Given the description of an element on the screen output the (x, y) to click on. 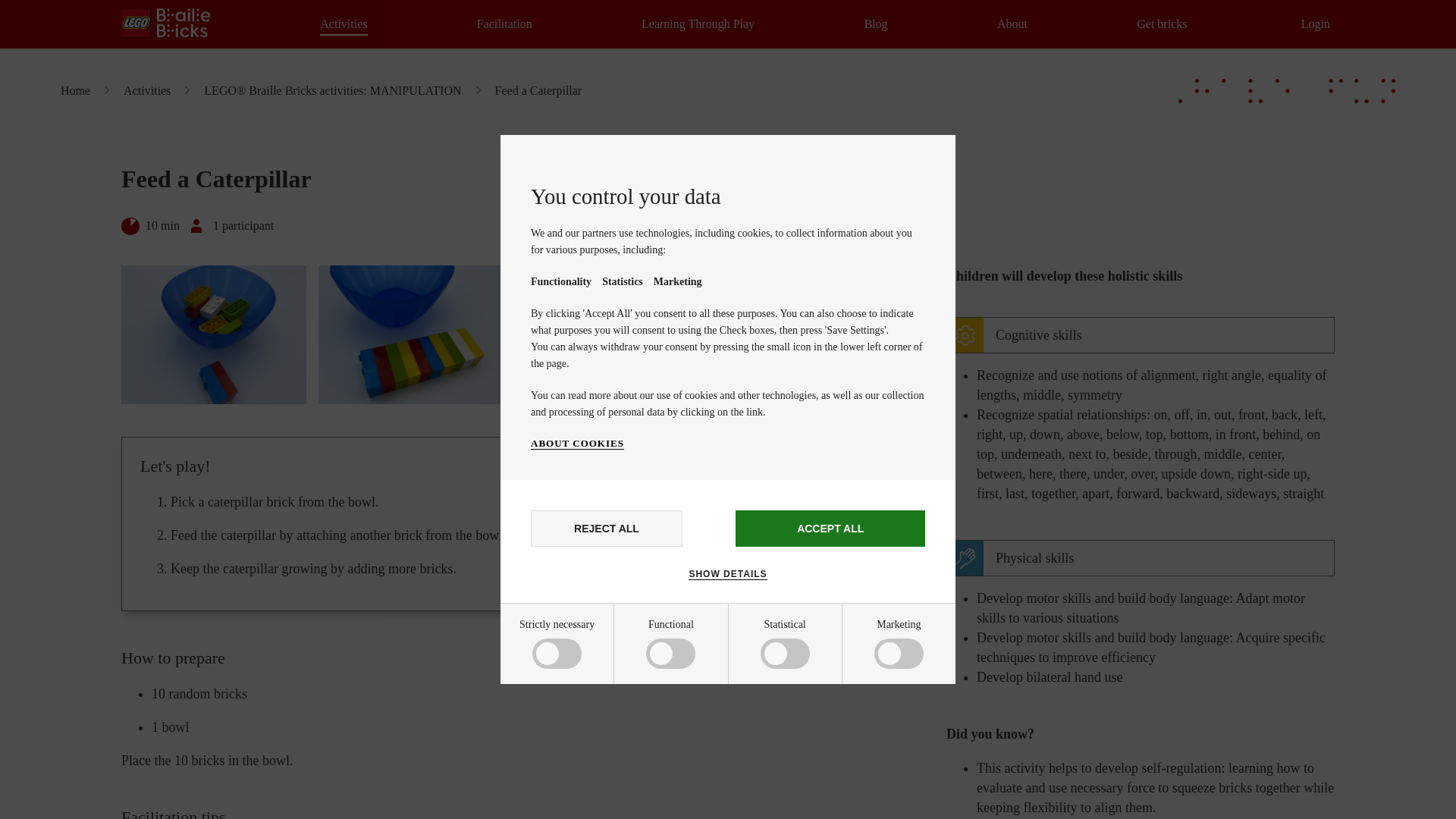
Strictly necessary (585, 657)
About (1012, 24)
Facilitation (504, 24)
Statistical (585, 766)
SHOW DETAILS (727, 573)
ACCEPT ALL (829, 528)
Learning Through Play (698, 24)
ABOUT COOKIES (577, 443)
Activities (343, 24)
Marketing (585, 809)
Functional (585, 714)
Blog (874, 24)
REJECT ALL (606, 528)
